Given the description of an element on the screen output the (x, y) to click on. 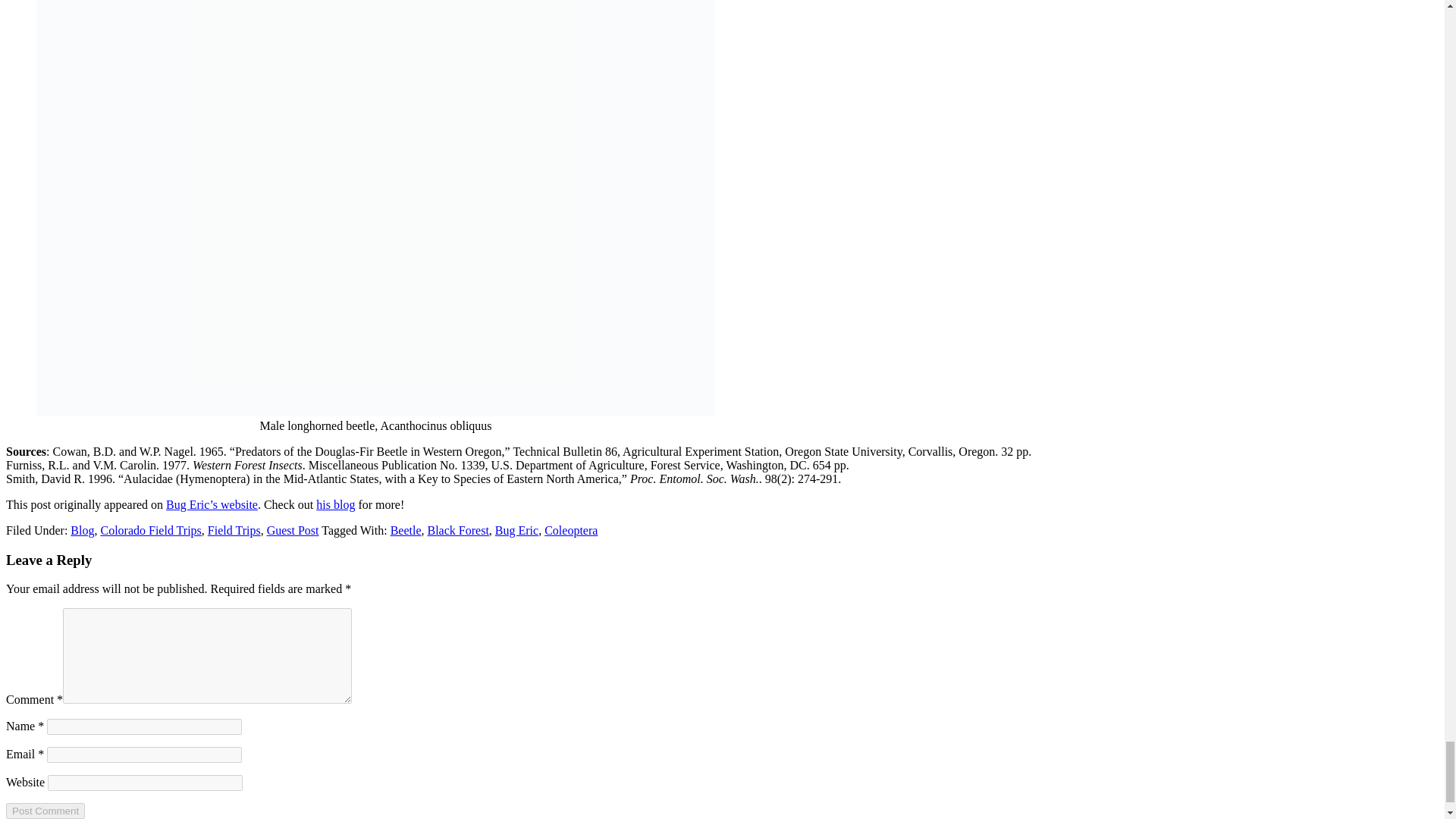
Bug Eric (516, 530)
Post Comment (44, 811)
Field Trips (234, 530)
Black Forest (458, 530)
Blog (81, 530)
his blog (335, 504)
Guest Post (292, 530)
Coleoptera (570, 530)
Post Comment (44, 811)
Colorado Field Trips (150, 530)
Beetle (406, 530)
